Given the description of an element on the screen output the (x, y) to click on. 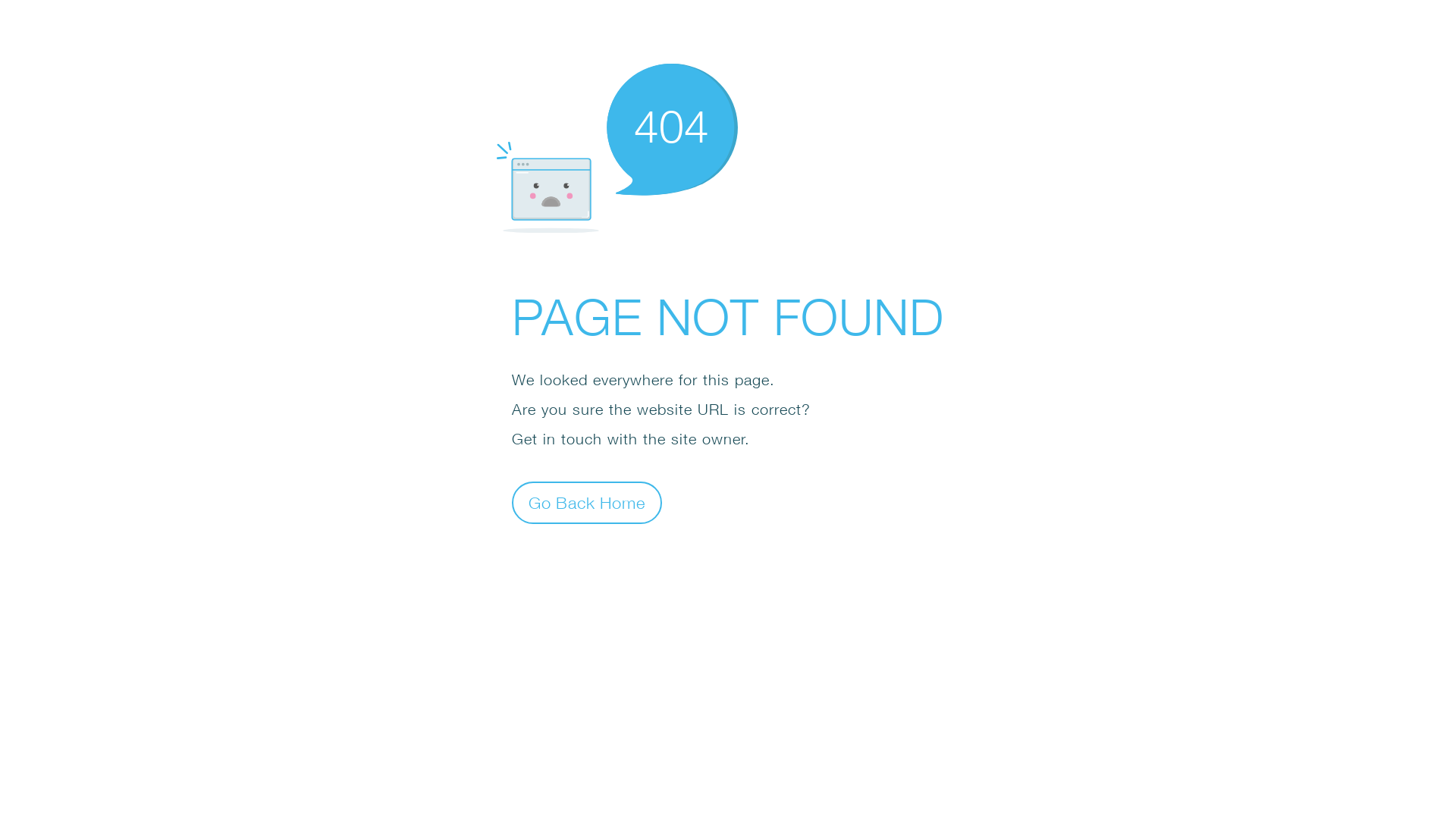
Go Back Home Element type: text (586, 502)
